Given the description of an element on the screen output the (x, y) to click on. 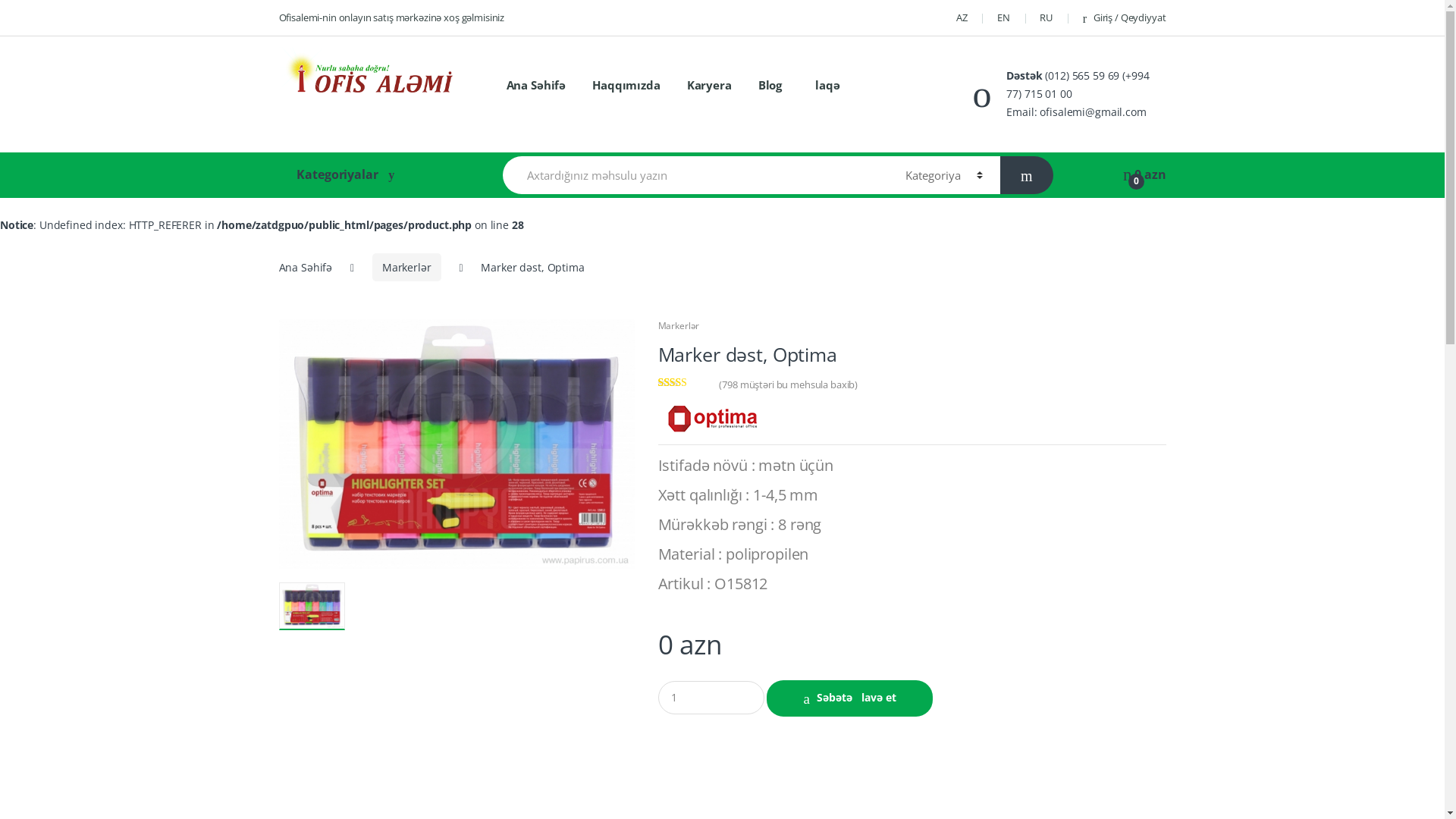
Kategoriyalar Element type: text (385, 174)
EN Element type: text (1003, 18)
RU Element type: text (1045, 18)
Karyera Element type: text (709, 85)
Blog Element type: text (769, 85)
0
0 azn Element type: text (1144, 174)
Qty Element type: hover (711, 697)
AZ Element type: text (961, 18)
